Given the description of an element on the screen output the (x, y) to click on. 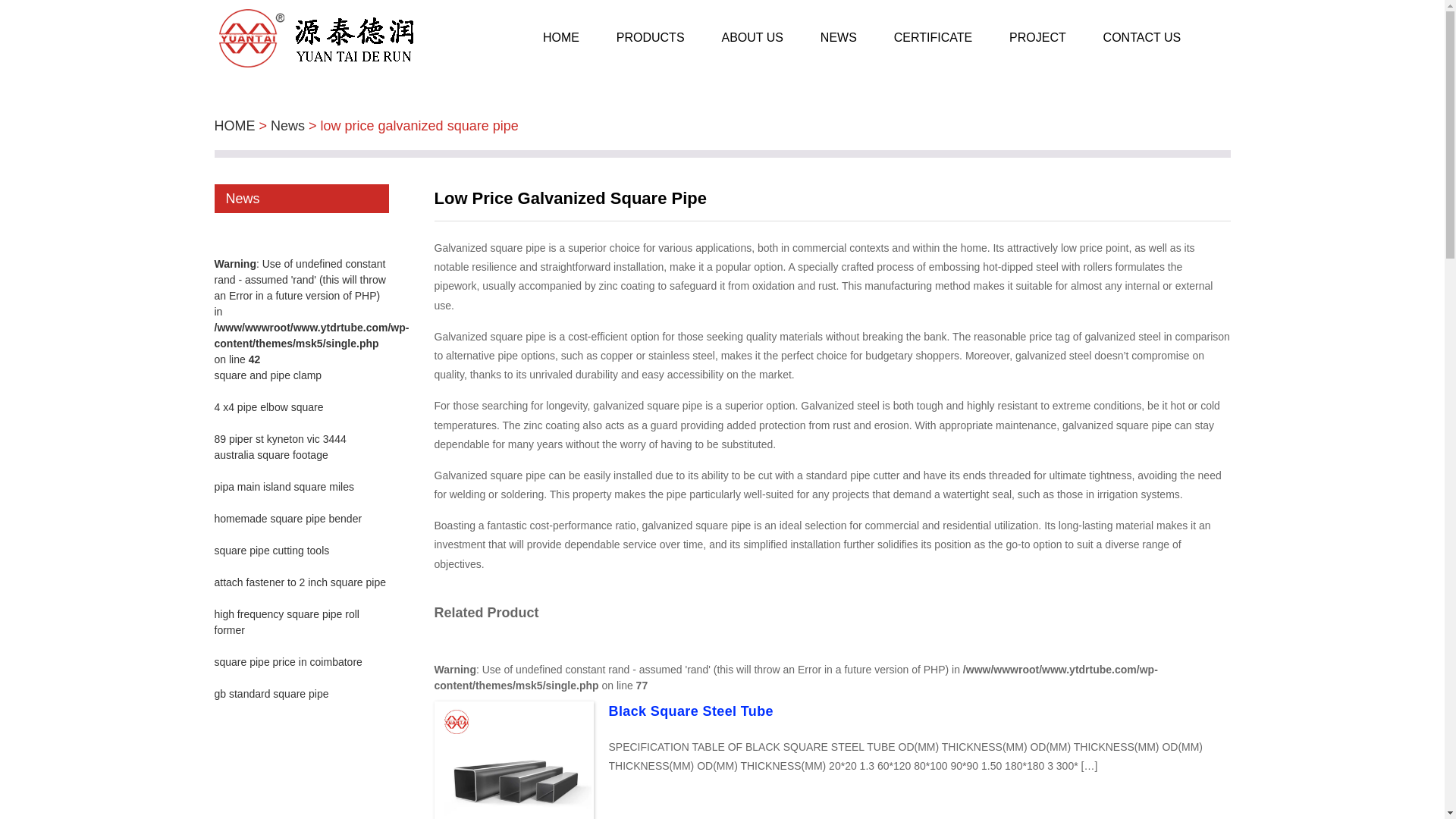
89 piper st kyneton vic 3444 australia square footage (280, 447)
CONTACT US (1141, 37)
4 x4 pipe elbow square (268, 407)
homemade square pipe bender (287, 518)
homemade square pipe bender (287, 518)
89 piper st kyneton vic 3444 australia square footage (280, 447)
CERTIFICATE (932, 37)
attach fastener to 2 inch square pipe (299, 582)
4 x4 pipe elbow square (268, 407)
high frequency square pipe roll former (286, 622)
square pipe price in coimbatore (287, 662)
PROJECT (1037, 37)
gb standard square pipe (271, 693)
Black Square Steel Tube (690, 711)
attach fastener to 2 inch square pipe (299, 582)
